Given the description of an element on the screen output the (x, y) to click on. 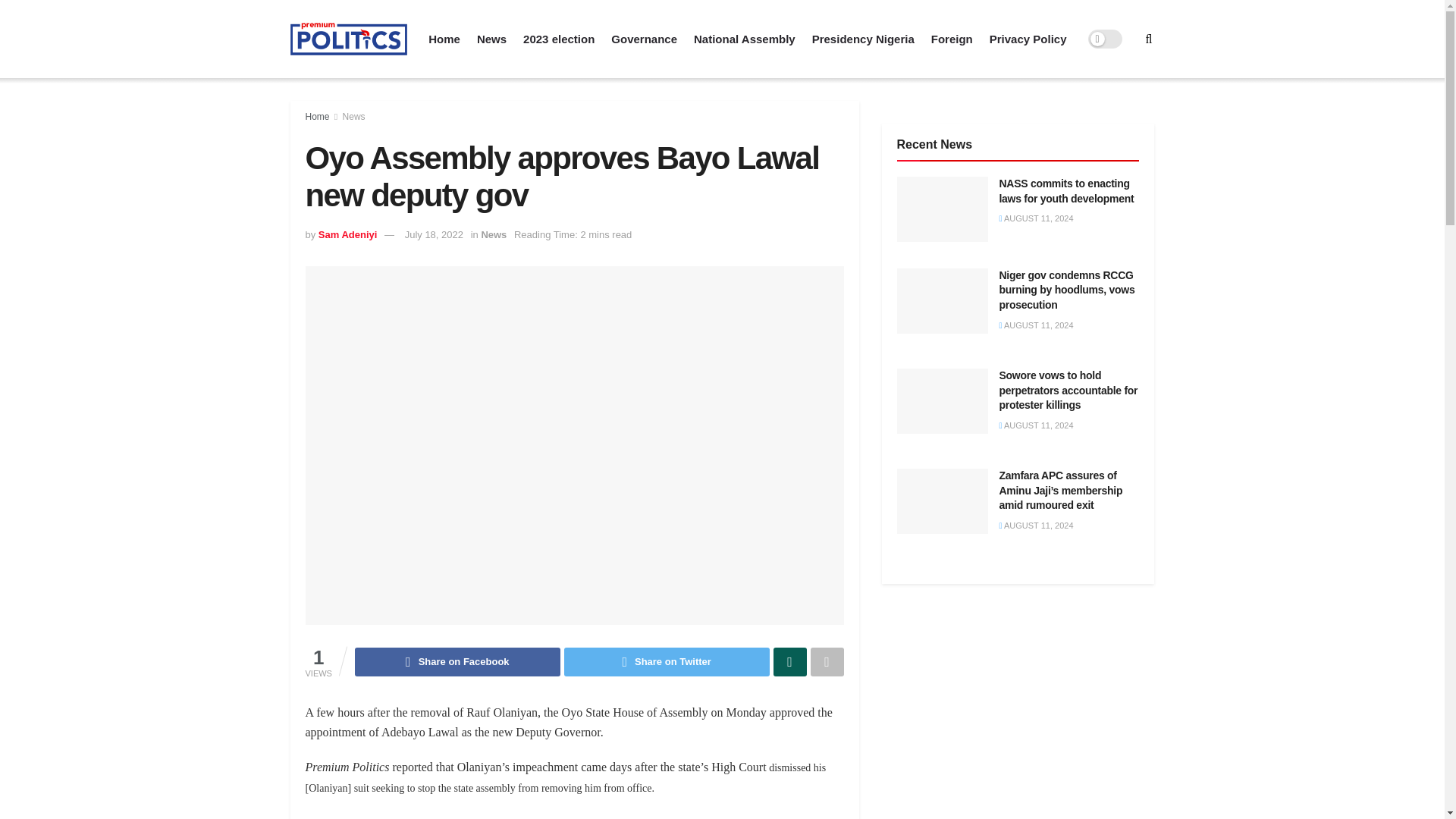
News (353, 116)
Privacy Policy (1028, 38)
Home (316, 116)
Sam Adeniyi (347, 234)
Share on Facebook (457, 661)
July 18, 2022 (433, 234)
Share on Twitter (667, 661)
2023 election (558, 38)
National Assembly (744, 38)
Presidency Nigeria (863, 38)
